Given the description of an element on the screen output the (x, y) to click on. 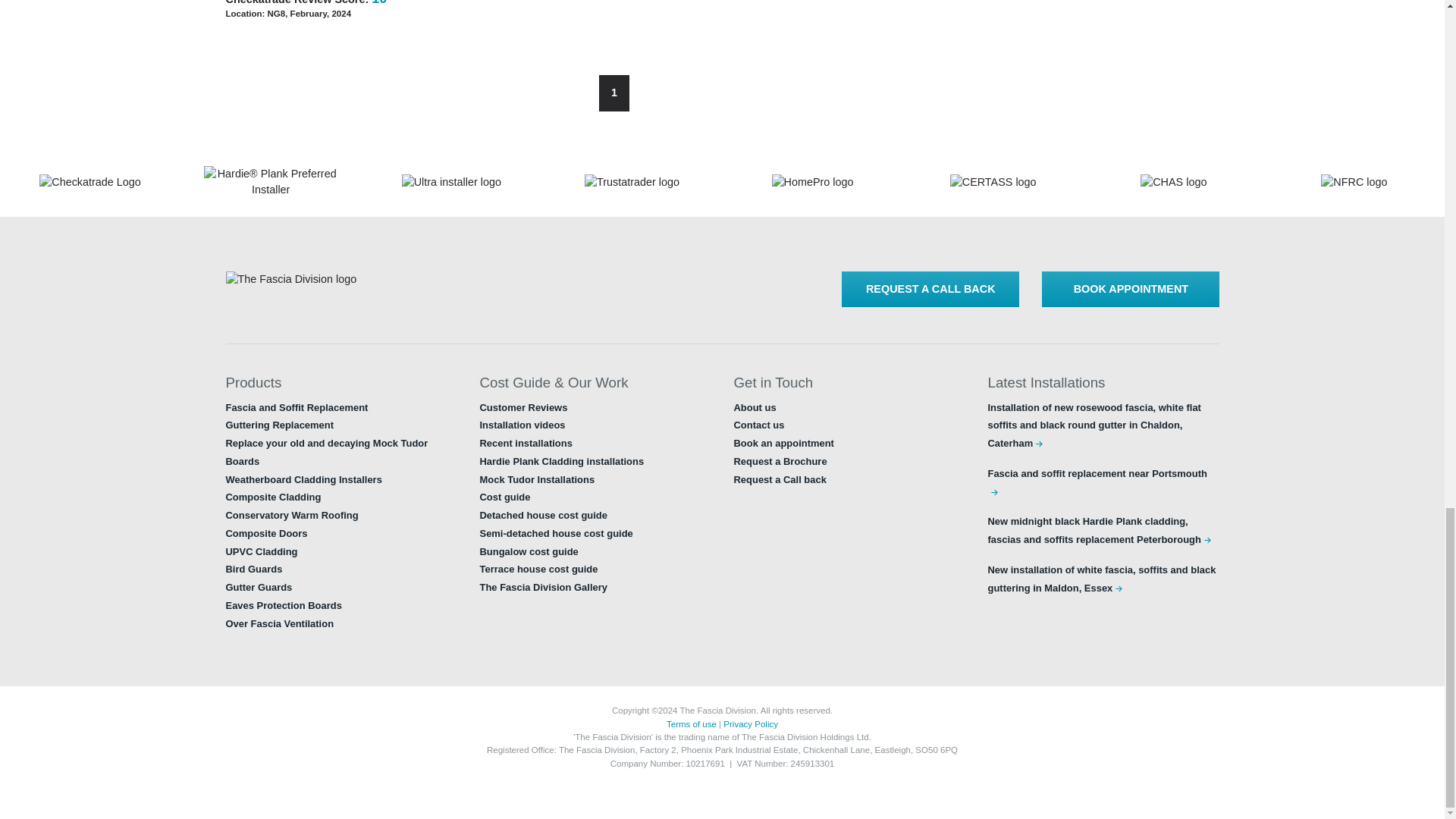
Fascia and soffit replacement near Portsmouth (1097, 482)
